Given the description of an element on the screen output the (x, y) to click on. 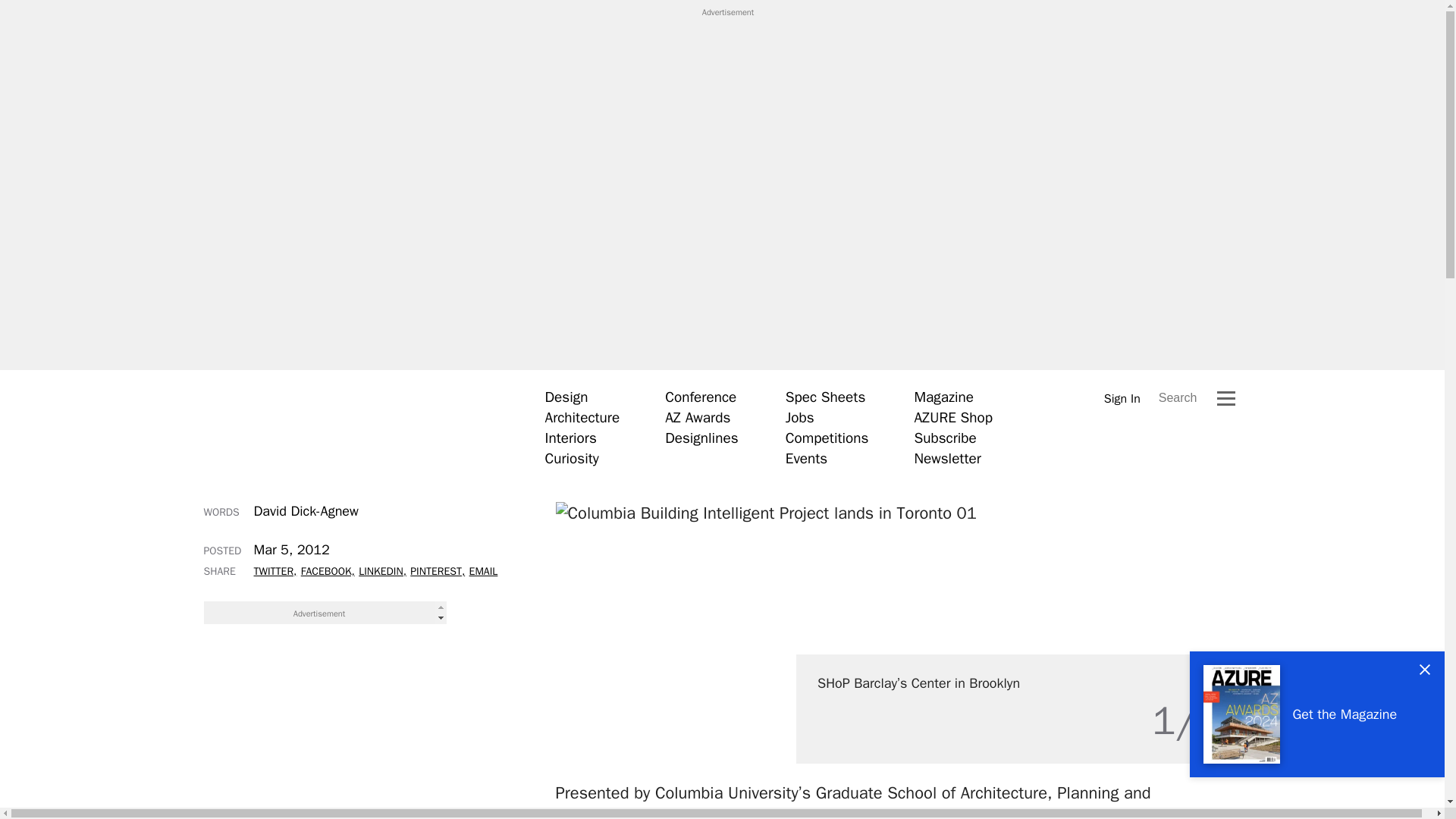
Events (806, 458)
Spec Sheets (825, 397)
Conference (700, 397)
Azure Magazine (351, 426)
Design (566, 397)
Curiosity (571, 458)
Jobs (799, 417)
Competitions (827, 438)
Magazine (944, 397)
Newsletter (946, 458)
Search (1178, 397)
Designlines (701, 438)
AZURE Shop (953, 417)
AZ Awards (697, 417)
Interiors (569, 438)
